Given the description of an element on the screen output the (x, y) to click on. 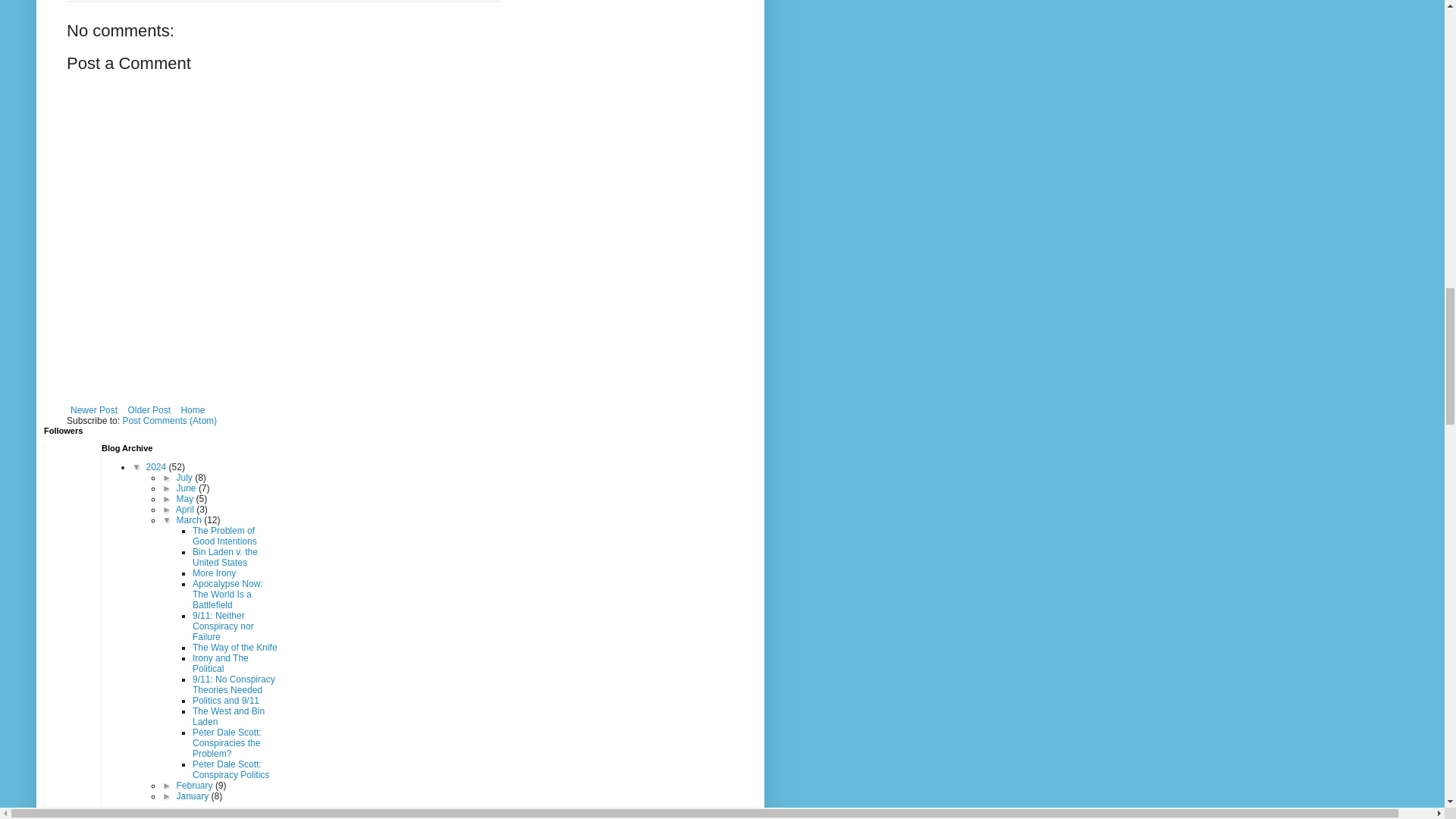
Bin Laden v. the United States (224, 557)
Irony and The Political (220, 663)
Peter Dale Scott: Conspiracy Politics (230, 769)
The West and Bin Laden (228, 716)
Apocalypse Now: The World Is a Battlefield (227, 594)
March (190, 520)
Newer Post (93, 410)
May (186, 498)
The Problem of Good Intentions (224, 536)
Home (192, 410)
More Irony (213, 573)
The Way of the Knife (235, 647)
Newer Post (93, 410)
April (186, 509)
2024 (157, 466)
